Given the description of an element on the screen output the (x, y) to click on. 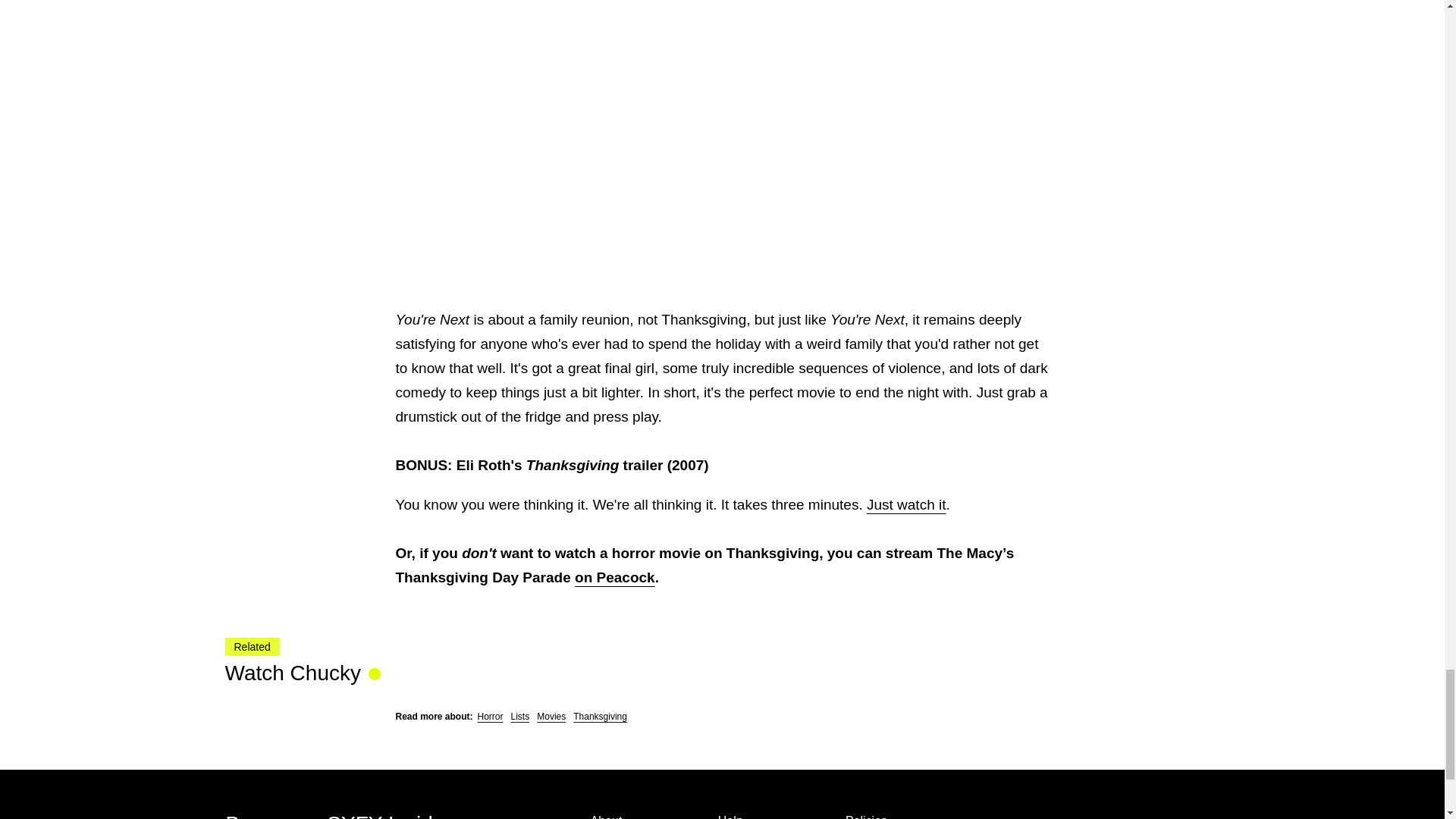
Horror (490, 716)
Lists (520, 716)
Thanksgiving (600, 716)
on Peacock (615, 577)
Movies (551, 716)
Just watch it (906, 504)
